Given the description of an element on the screen output the (x, y) to click on. 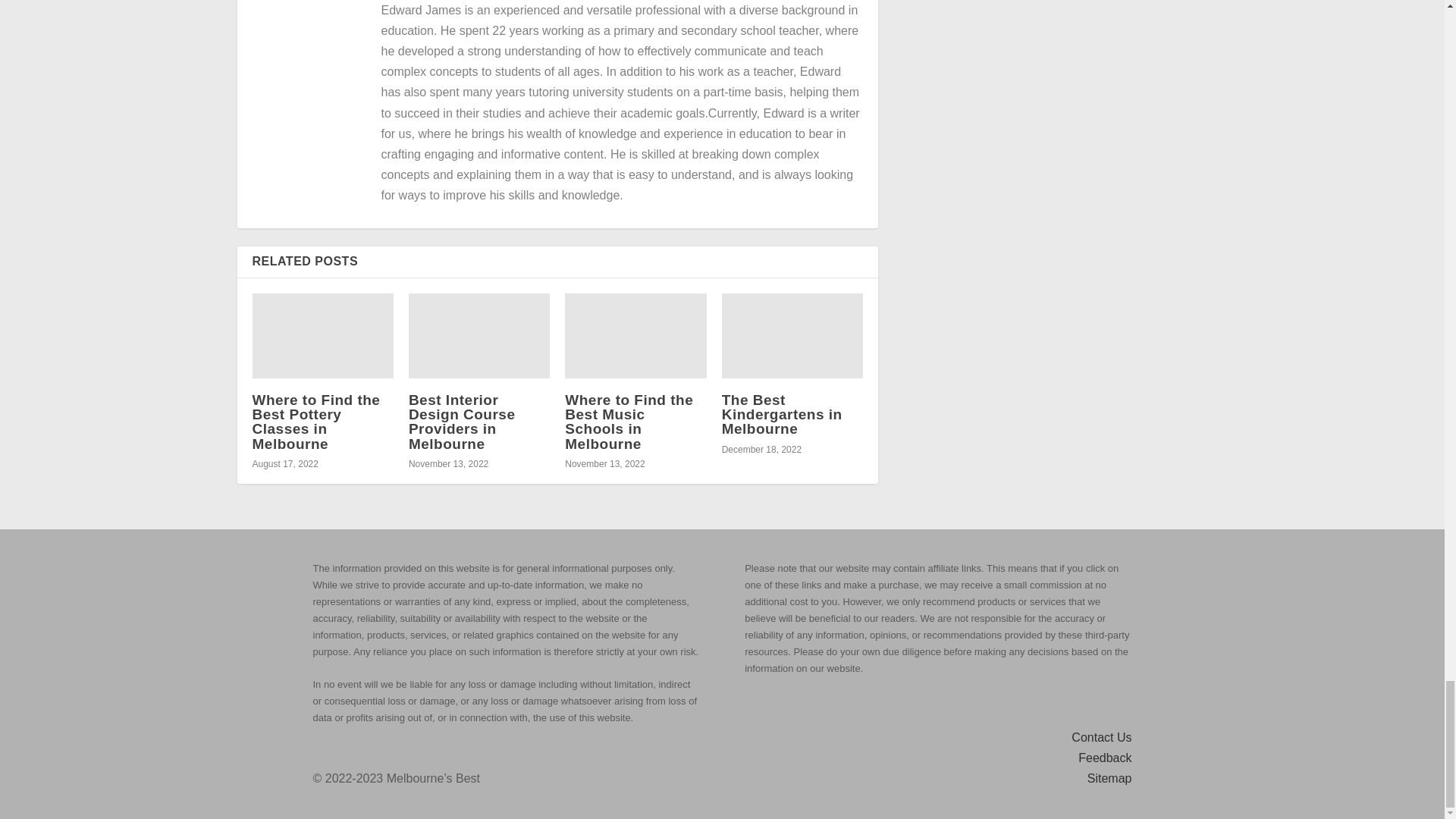
Where to Find the Best Pottery Classes in Melbourne (315, 422)
